Given the description of an element on the screen output the (x, y) to click on. 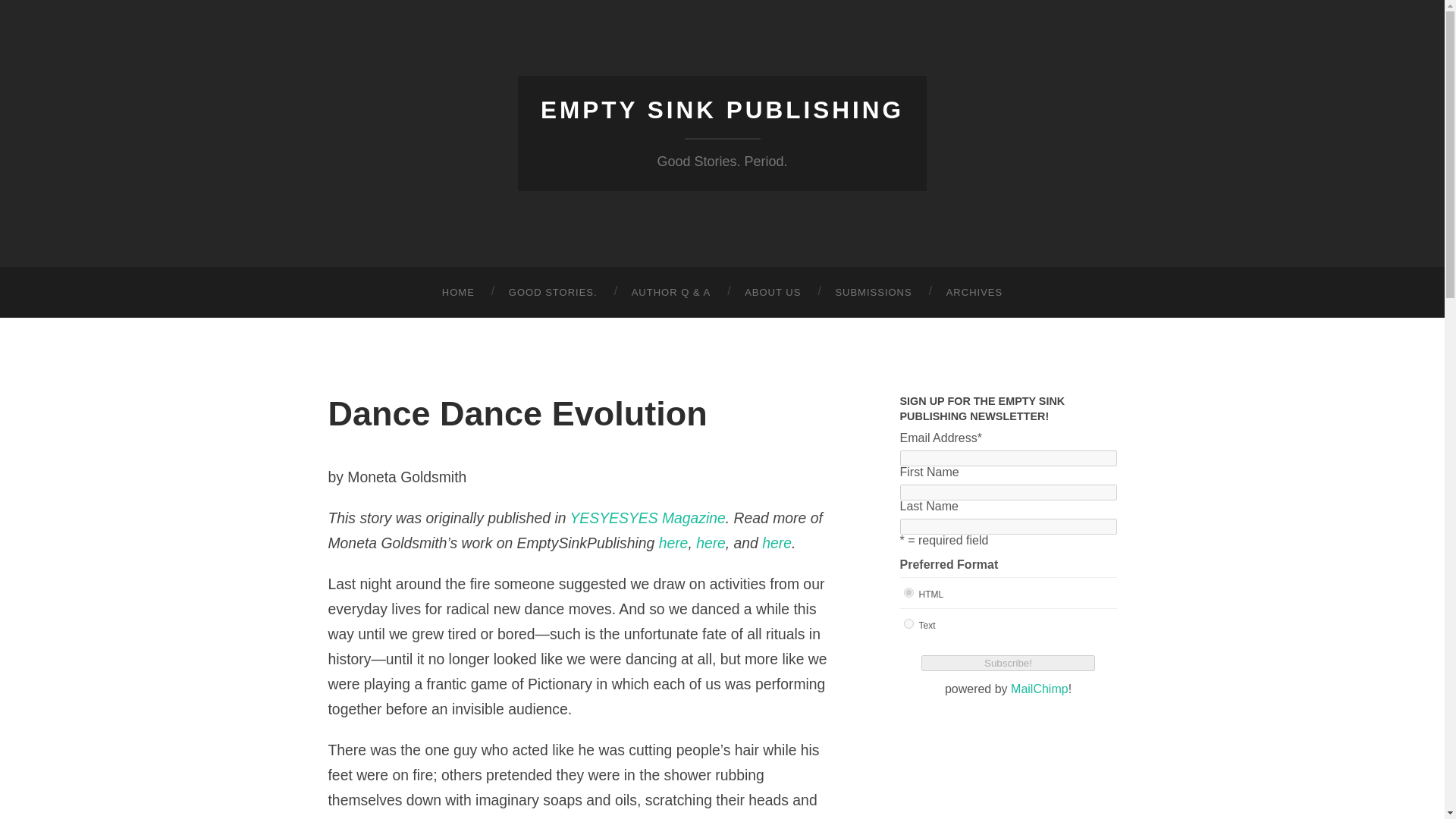
SUBMISSIONS (872, 291)
Subscribe! (1007, 662)
GOOD STORIES. (552, 291)
YESYESYES Magazine (647, 517)
MailChimp (1039, 688)
ABOUT US (772, 291)
html (909, 592)
here (710, 542)
HOME (457, 291)
ARCHIVES (974, 291)
